Given the description of an element on the screen output the (x, y) to click on. 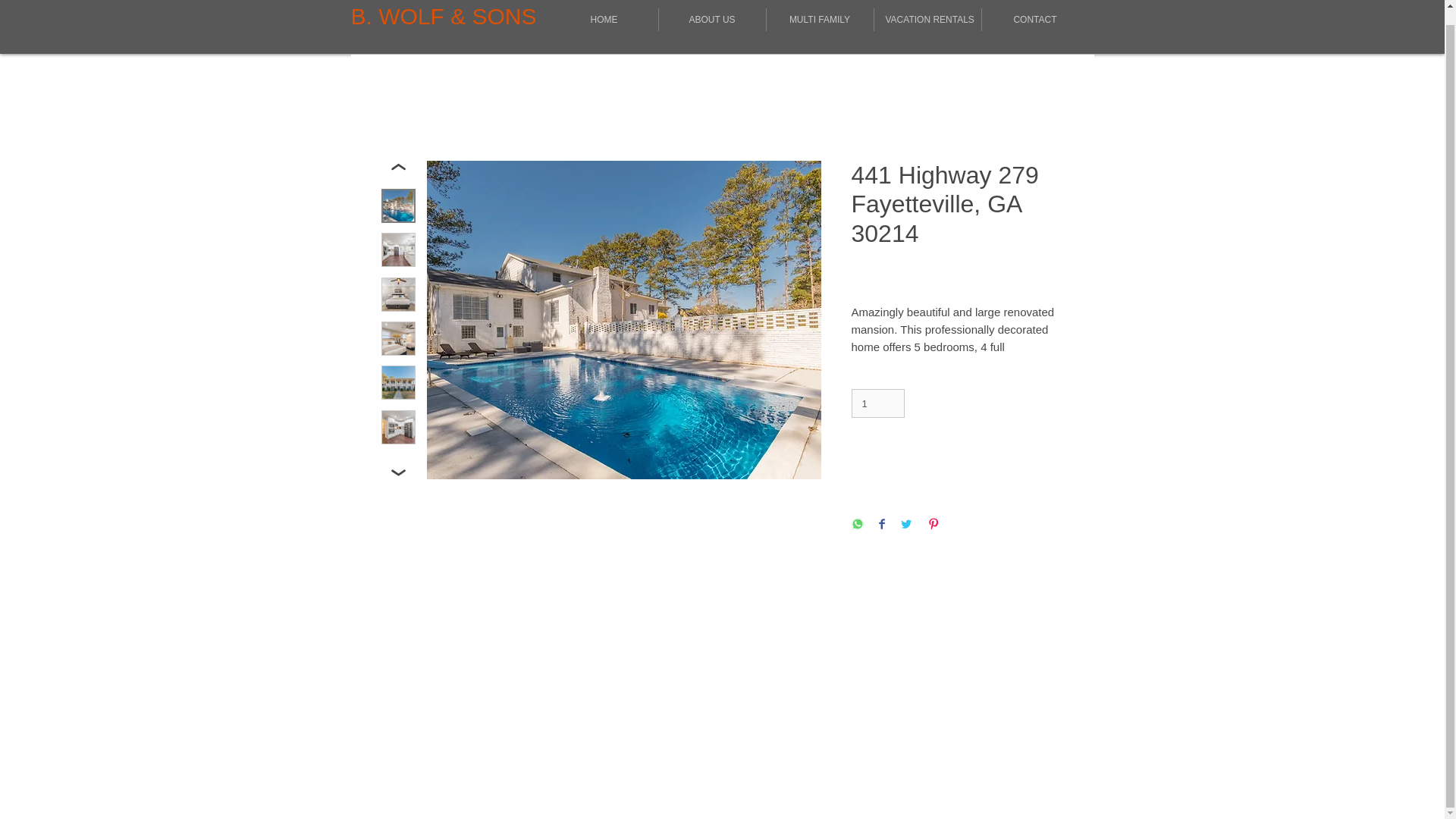
ABOUT US (711, 19)
MULTI FAMILY (818, 19)
1 (877, 403)
Add to Cart (956, 457)
HOME (604, 19)
VACATION RENTALS (926, 19)
CONTACT (1034, 19)
